Given the description of an element on the screen output the (x, y) to click on. 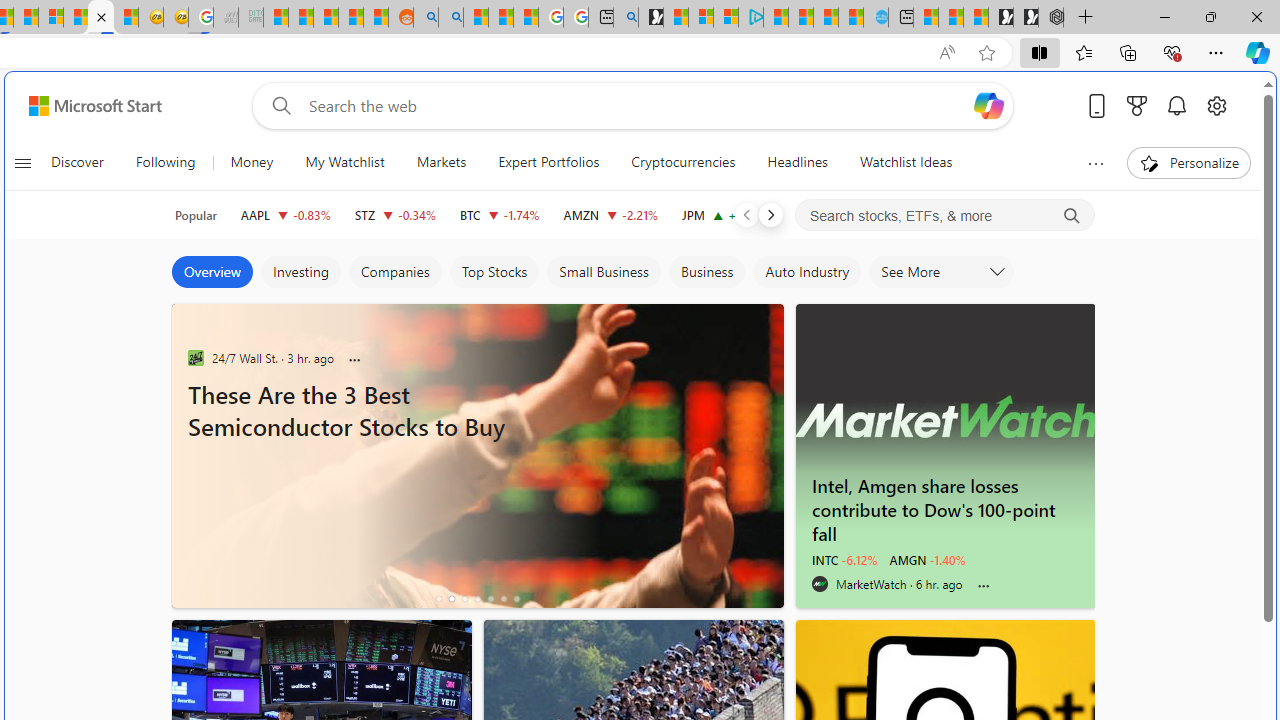
AAPL APPLE INC. decrease 224.53 -1.87 -0.83% (285, 214)
